Given the description of an element on the screen output the (x, y) to click on. 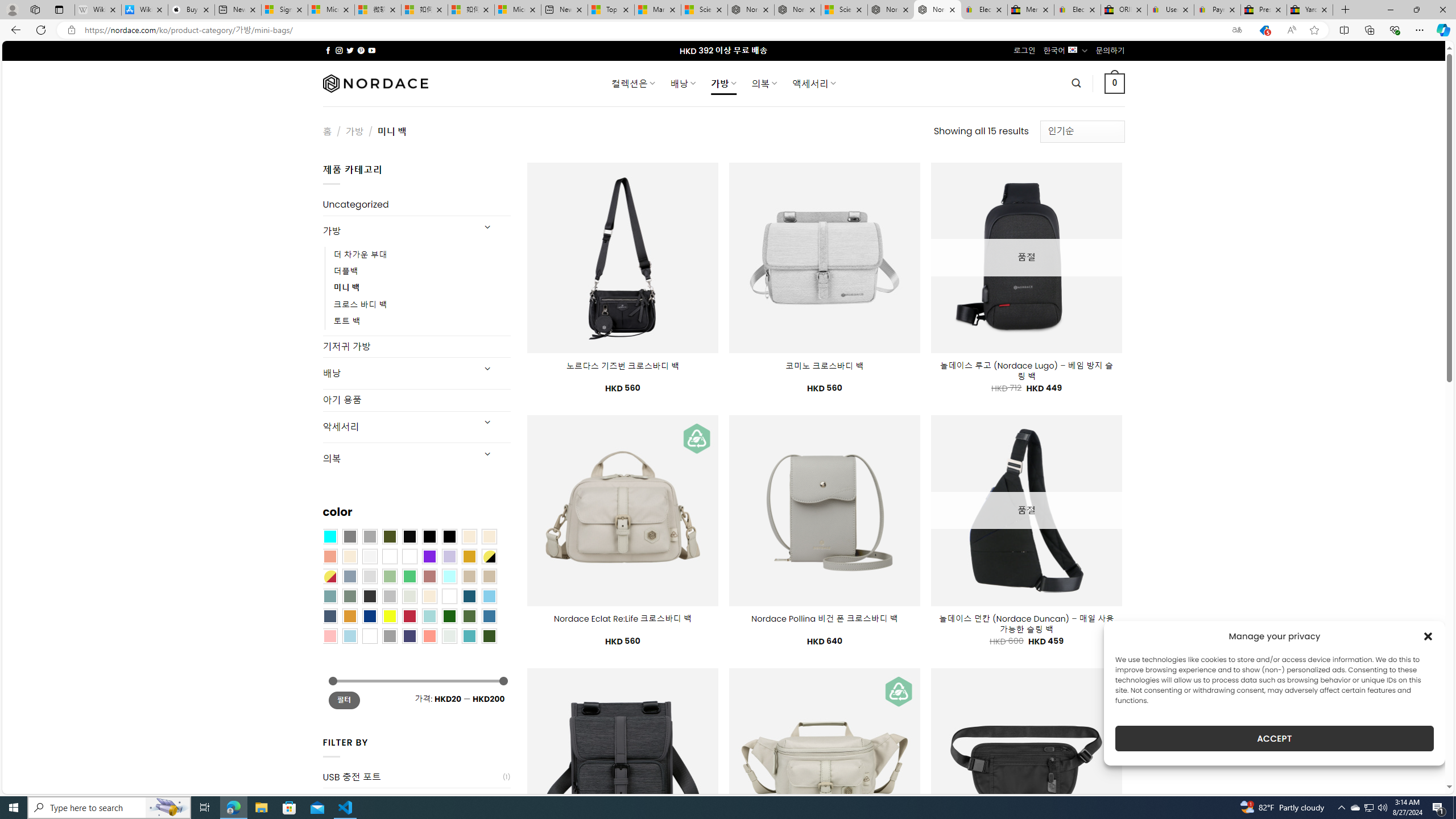
Top Stories - MSN (610, 9)
